Given the description of an element on the screen output the (x, y) to click on. 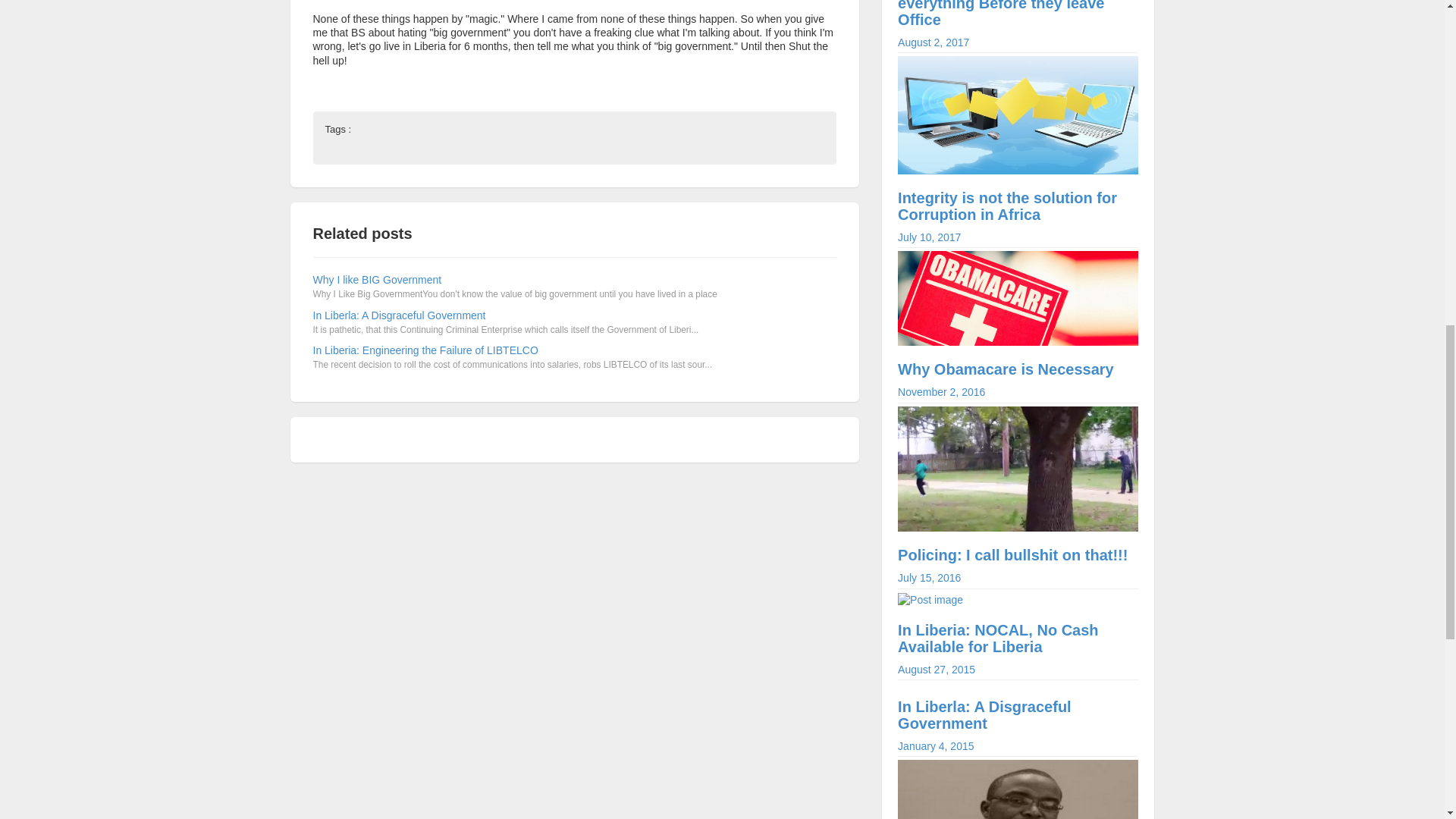
In Liberia: Engineering the Failure of LIBTELCO (1018, 522)
Why I like BIG Government (1018, 725)
In Liberla: A Disgraceful Government (1018, 344)
